Given the description of an element on the screen output the (x, y) to click on. 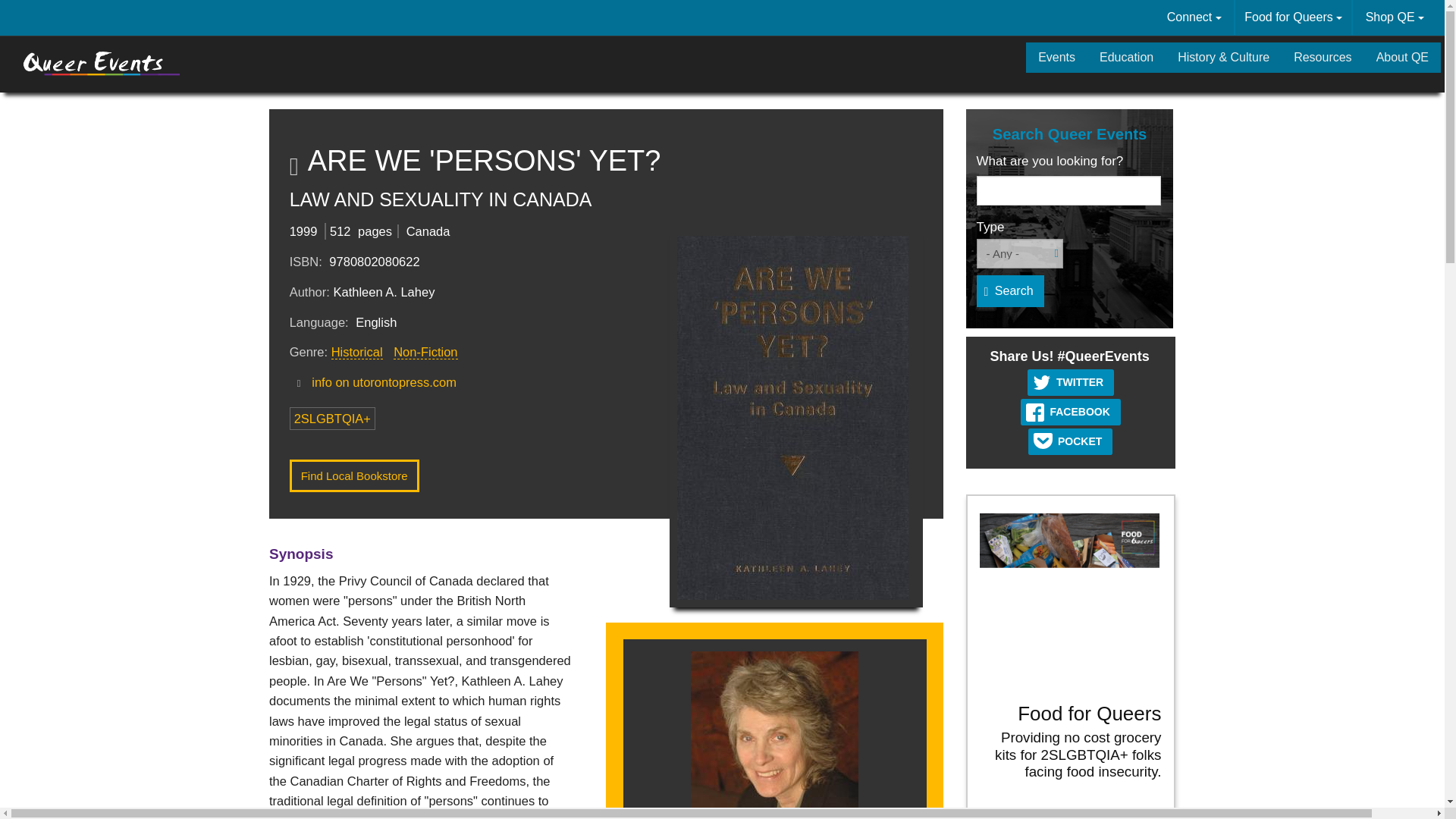
Education (1126, 57)
Events (1056, 57)
Connect (1193, 17)
Canadian Queer History (1223, 57)
Online learning resources (1126, 57)
Shop QE (1394, 17)
Food for Queers (1292, 17)
Community events (1056, 57)
Home (102, 63)
